Given the description of an element on the screen output the (x, y) to click on. 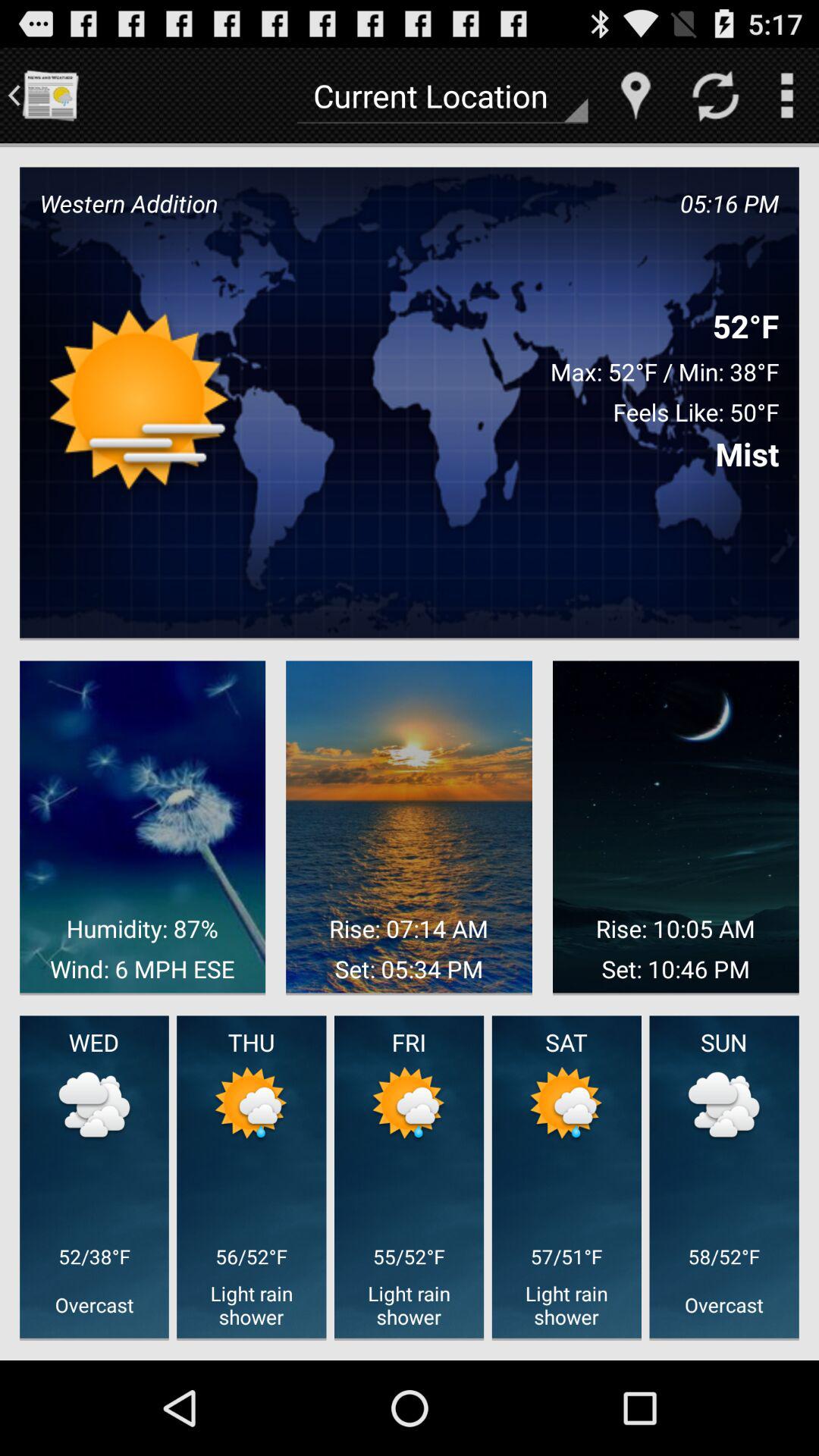
tap app next to the current location item (49, 95)
